Given the description of an element on the screen output the (x, y) to click on. 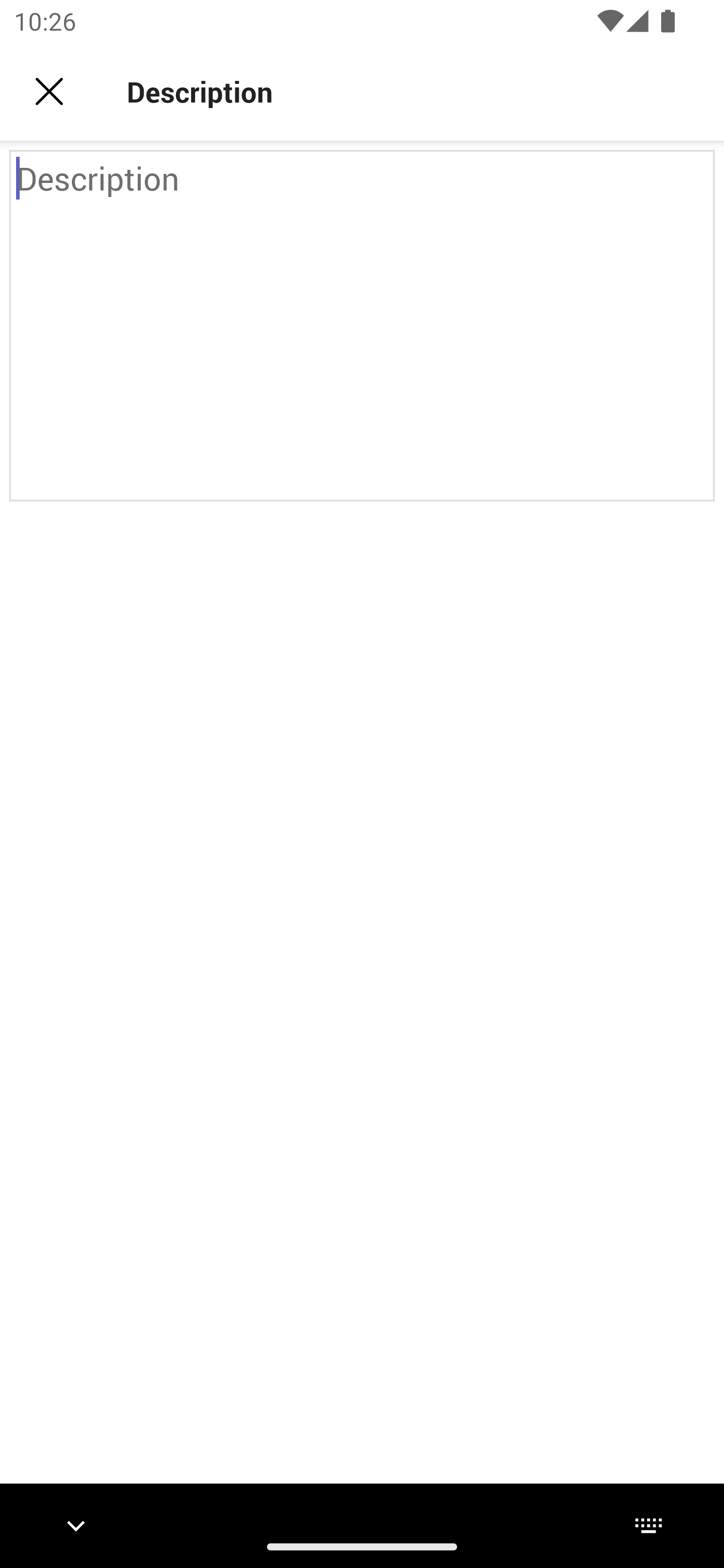
Back (49, 91)
Description (361, 325)
